Given the description of an element on the screen output the (x, y) to click on. 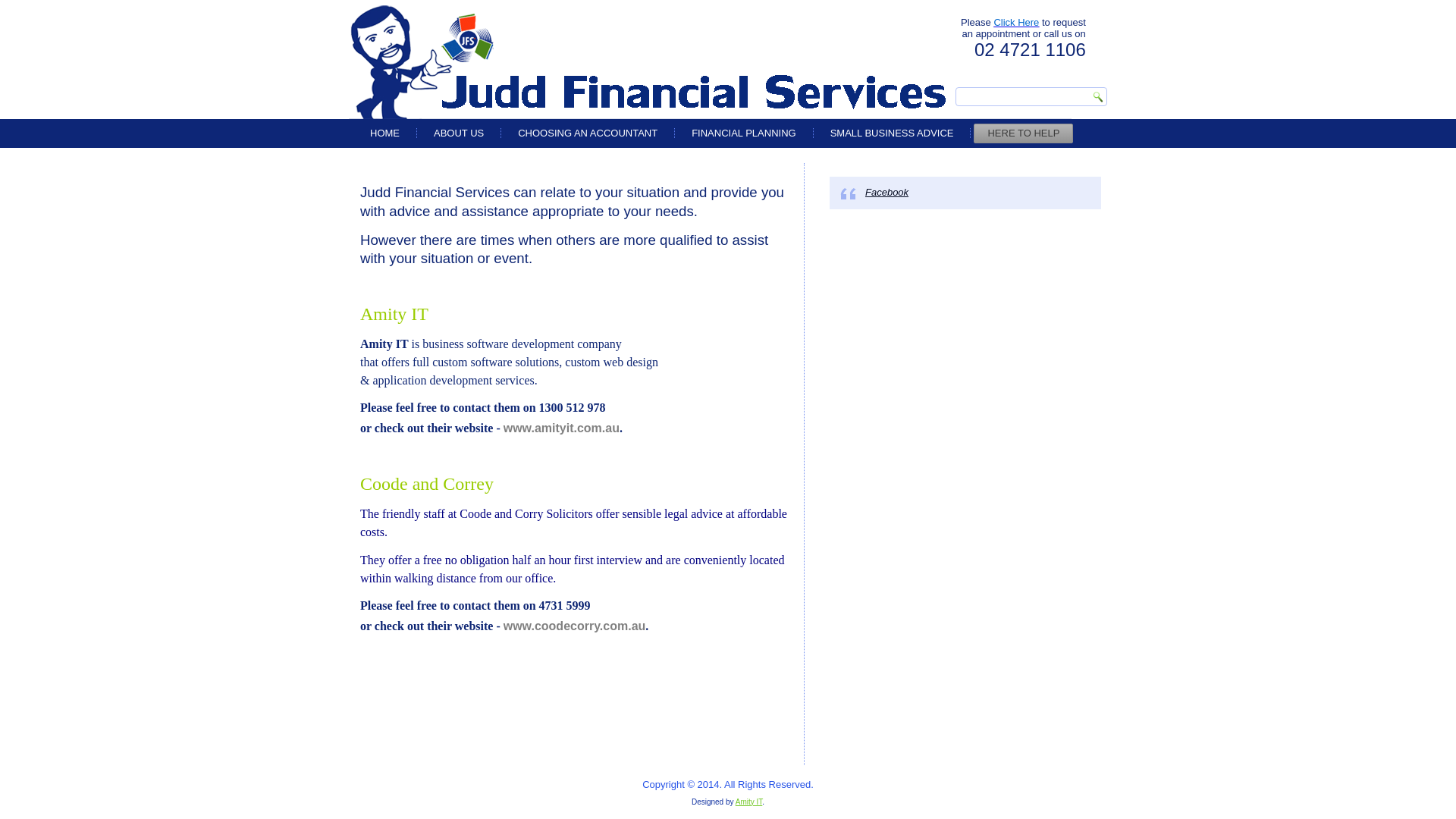
HERE TO HELP Element type: text (1023, 133)
HOME Element type: text (384, 133)
FINANCIAL PLANNING Element type: text (743, 133)
www.coodecorry.com.au Element type: text (574, 625)
CHOOSING AN ACCOUNTANT Element type: text (587, 133)
www.amityit.com.au Element type: text (561, 427)
Amity IT Element type: text (748, 801)
Facebook Element type: text (886, 191)
Click Here Element type: text (1015, 22)
SMALL BUSINESS ADVICE Element type: text (891, 133)
ABOUT US Element type: text (458, 133)
